Given the description of an element on the screen output the (x, y) to click on. 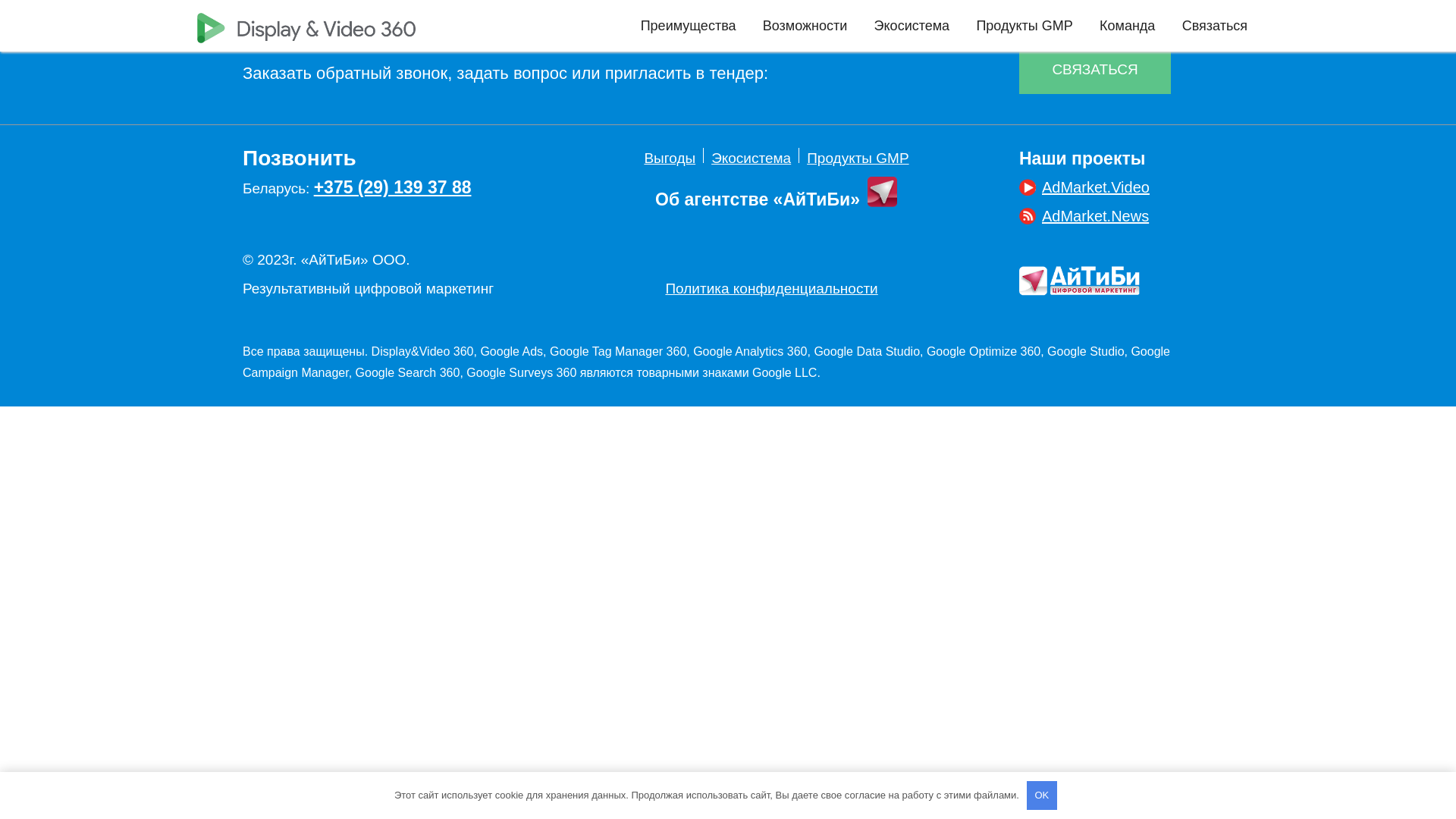
GMP Element type: text (1057, 25)
AdMarket.Video Element type: text (1084, 186)
+375 (29) 139 37 88 Element type: text (392, 187)
OK Element type: text (1041, 795)
AdMarket.News Element type: text (1083, 215)
